Given the description of an element on the screen output the (x, y) to click on. 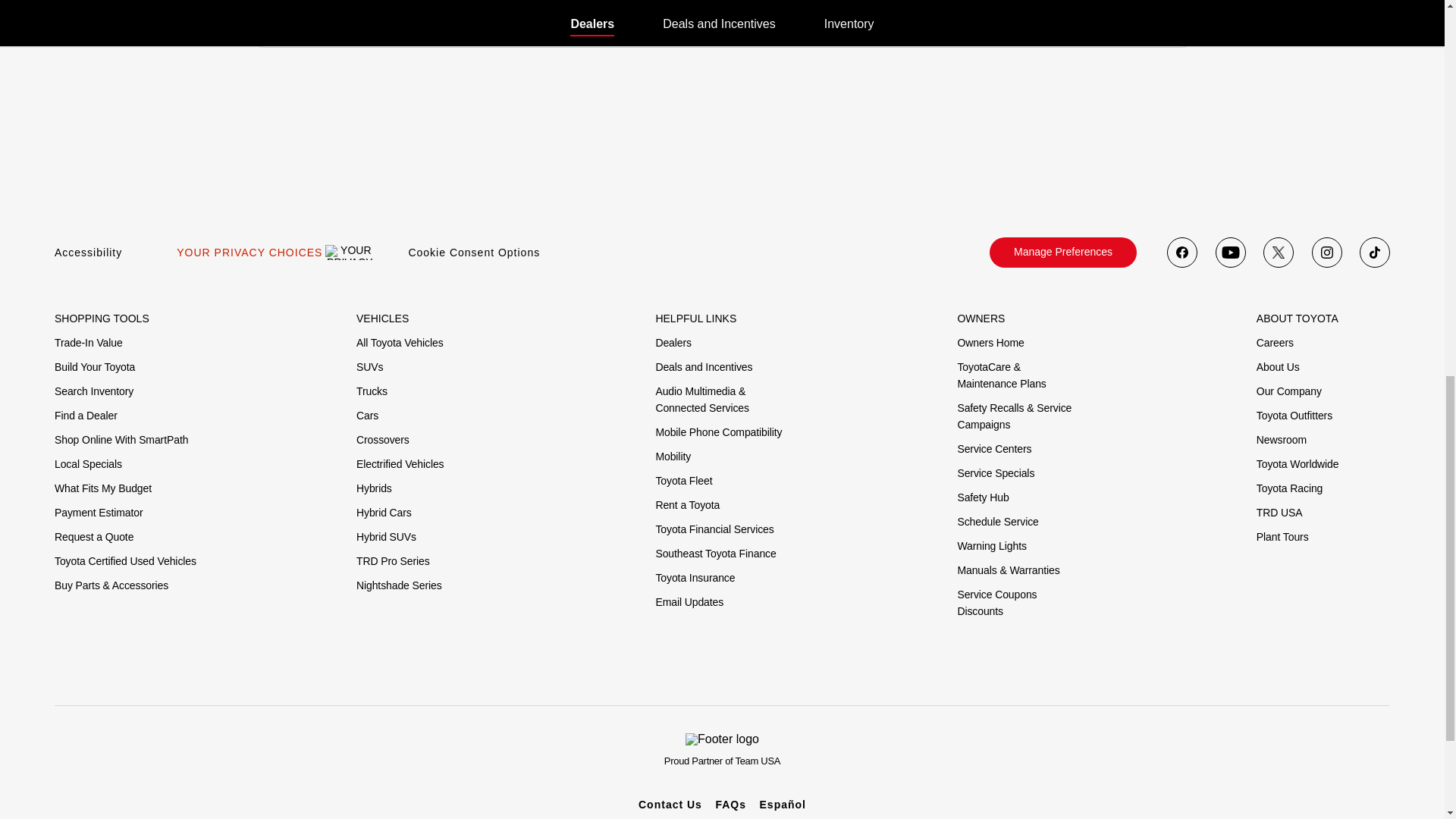
Payment Estimator (98, 512)
Shop Online With SmartPath (121, 439)
Dealer Details (437, 11)
All Toyota Vehicles (400, 342)
Request a Quote (94, 536)
Toyota Certified Used Vehicles (125, 560)
Trucks (371, 391)
What Fits My Budget (103, 487)
Cars (367, 415)
Trade-In Value (88, 342)
